Given the description of an element on the screen output the (x, y) to click on. 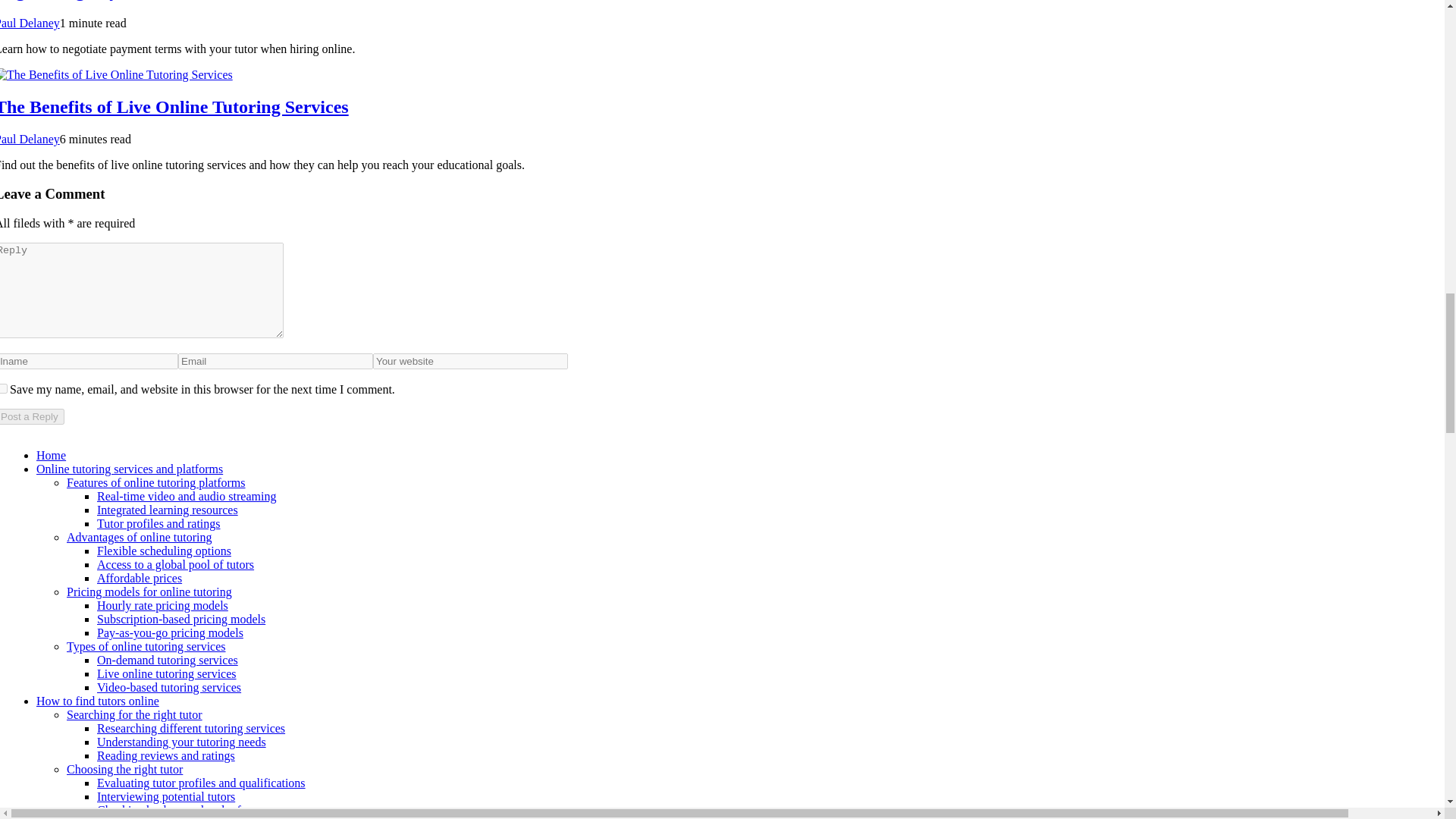
Posts by Paul Delaney (29, 22)
Posts by Paul Delaney (29, 138)
Post a Reply (32, 416)
yes (3, 388)
